Given the description of an element on the screen output the (x, y) to click on. 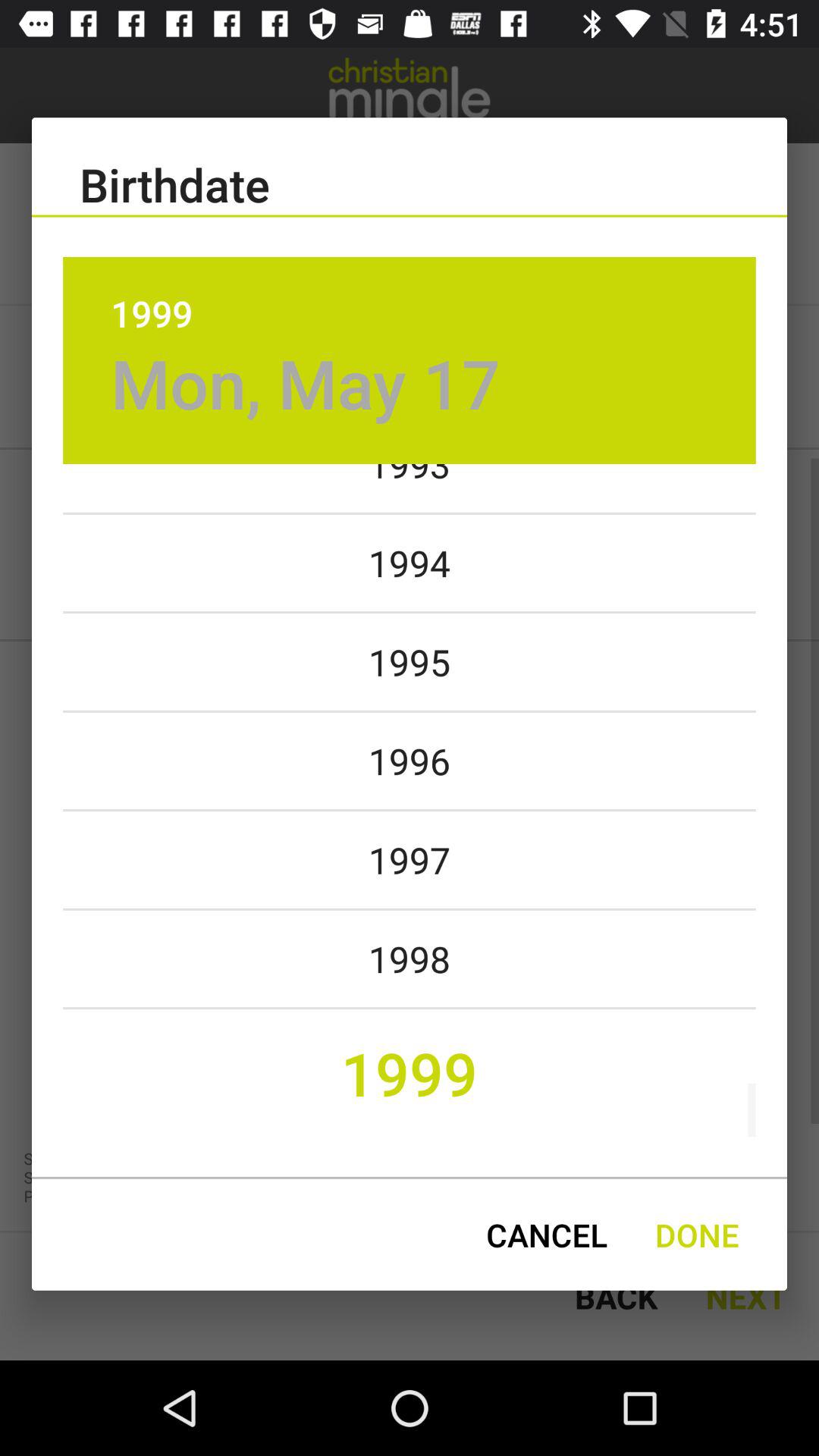
select the mon, may 17 (305, 382)
